Given the description of an element on the screen output the (x, y) to click on. 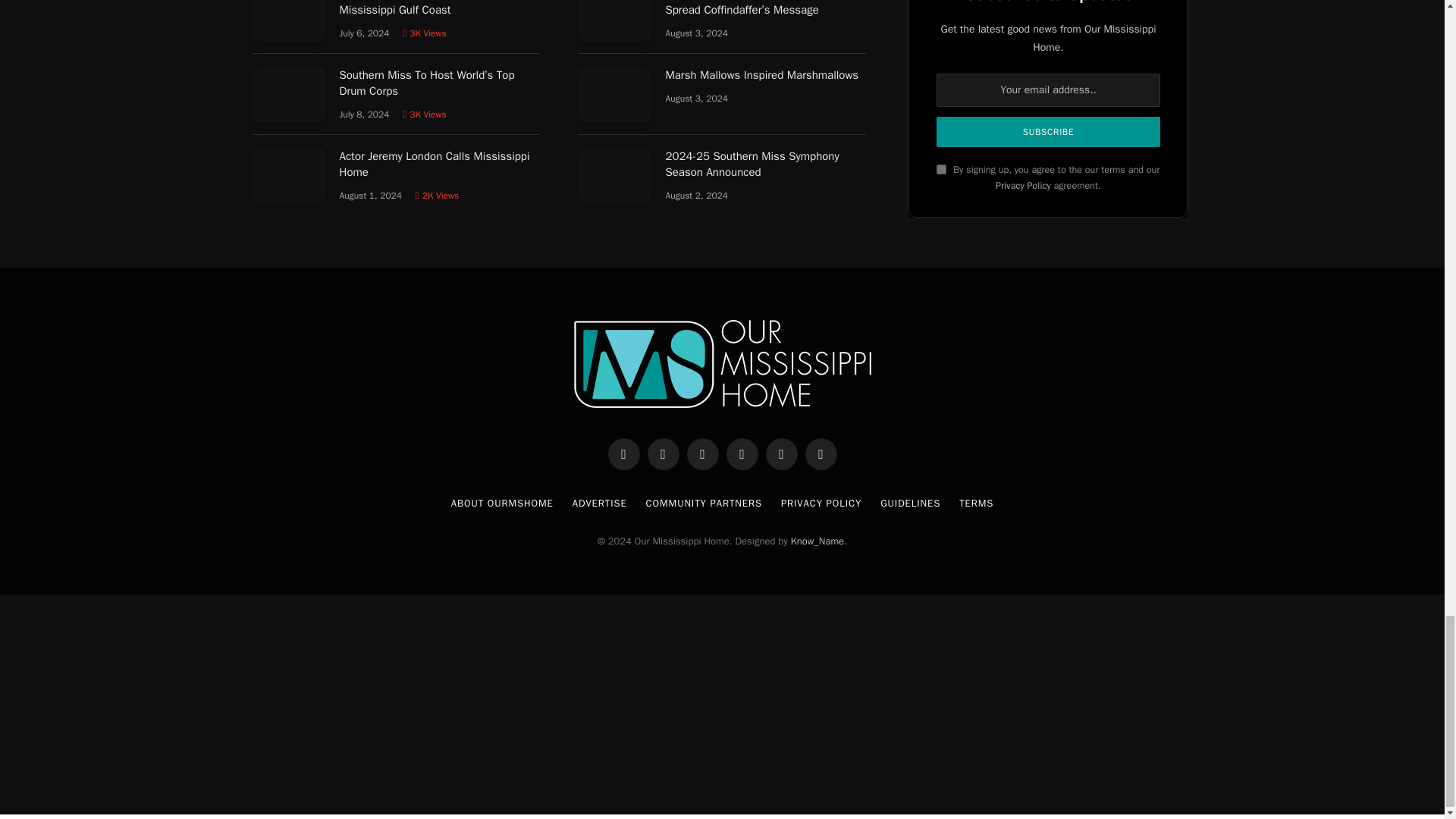
Subscribe (1047, 132)
on (941, 169)
